Given the description of an element on the screen output the (x, y) to click on. 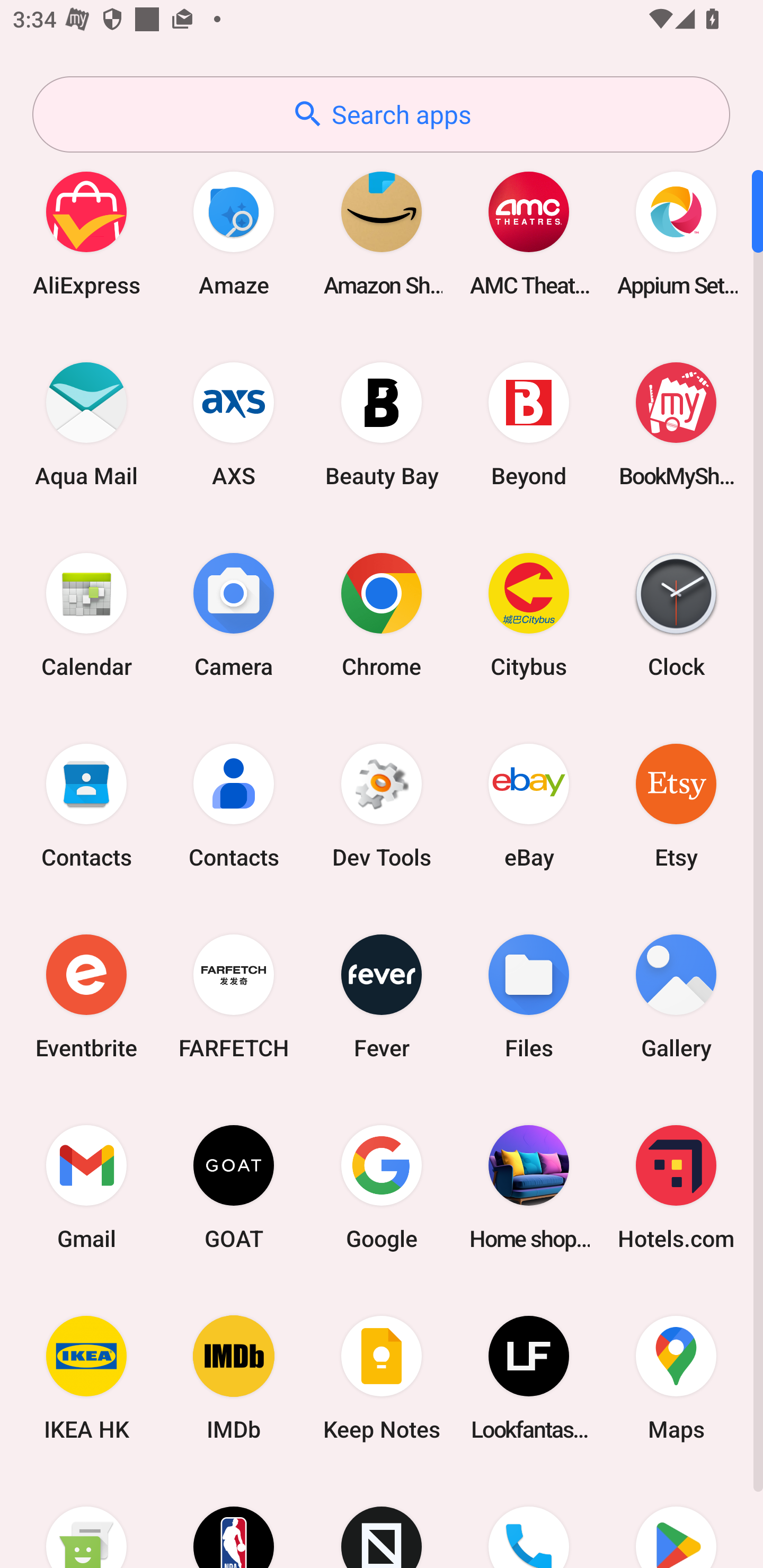
  Search apps (381, 114)
AliExpress (86, 233)
Amaze (233, 233)
Amazon Shopping (381, 233)
AMC Theatres (528, 233)
Appium Settings (676, 233)
Aqua Mail (86, 424)
AXS (233, 424)
Beauty Bay (381, 424)
Beyond (528, 424)
BookMyShow (676, 424)
Calendar (86, 614)
Camera (233, 614)
Chrome (381, 614)
Citybus (528, 614)
Clock (676, 614)
Contacts (86, 805)
Contacts (233, 805)
Dev Tools (381, 805)
eBay (528, 805)
Etsy (676, 805)
Eventbrite (86, 996)
FARFETCH (233, 996)
Fever (381, 996)
Files (528, 996)
Gallery (676, 996)
Gmail (86, 1186)
GOAT (233, 1186)
Google (381, 1186)
Home shopping (528, 1186)
Hotels.com (676, 1186)
IKEA HK (86, 1377)
IMDb (233, 1377)
Keep Notes (381, 1377)
Lookfantastic (528, 1377)
Maps (676, 1377)
